Given the description of an element on the screen output the (x, y) to click on. 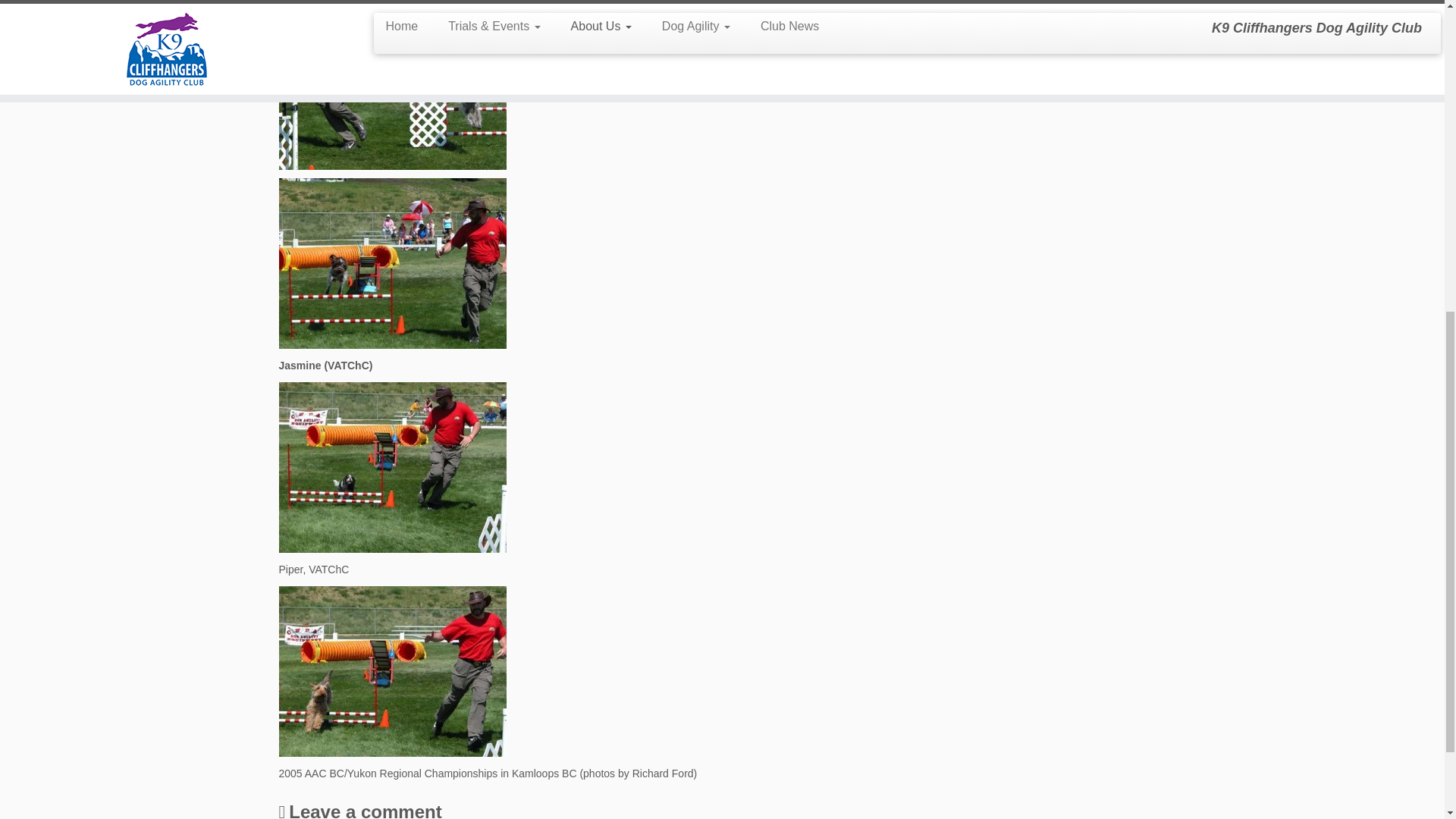
Dagger2 (392, 262)
Dagger1 (392, 82)
Jasmine (392, 466)
Piper (392, 670)
